Given the description of an element on the screen output the (x, y) to click on. 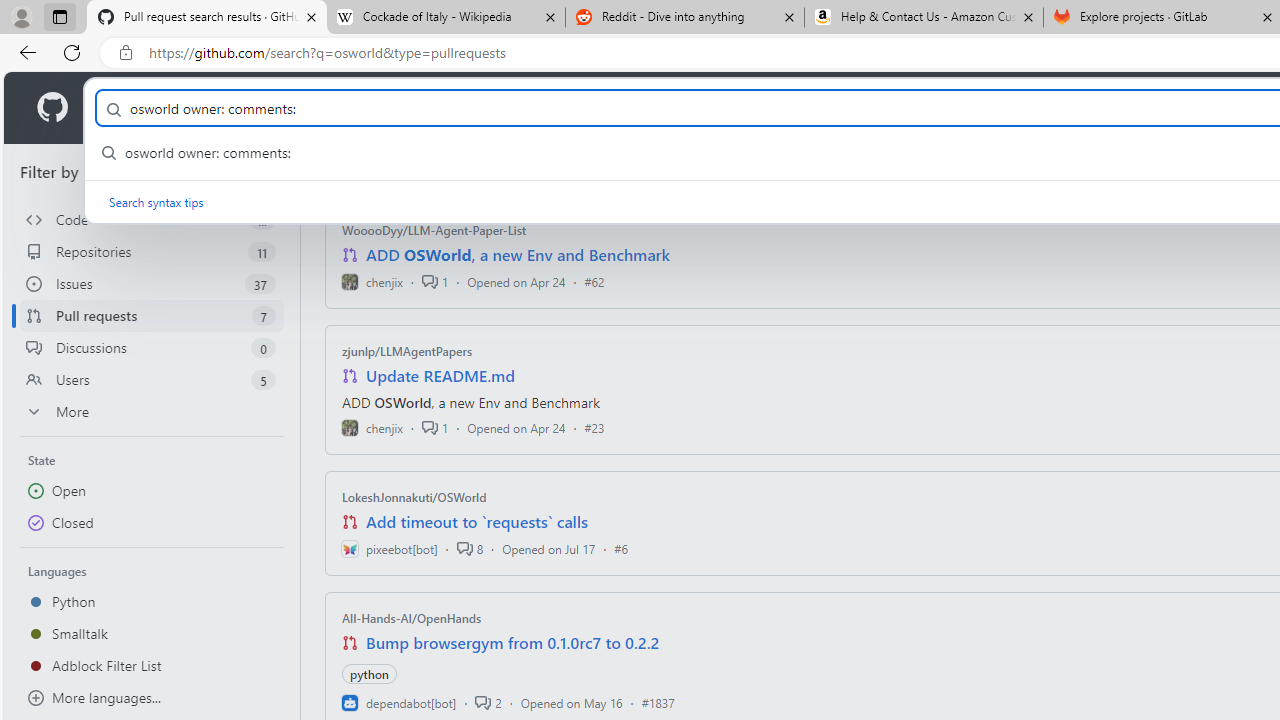
Cockade of Italy - Wikipedia (445, 17)
More languages... (152, 697)
1 (435, 427)
